Given the description of an element on the screen output the (x, y) to click on. 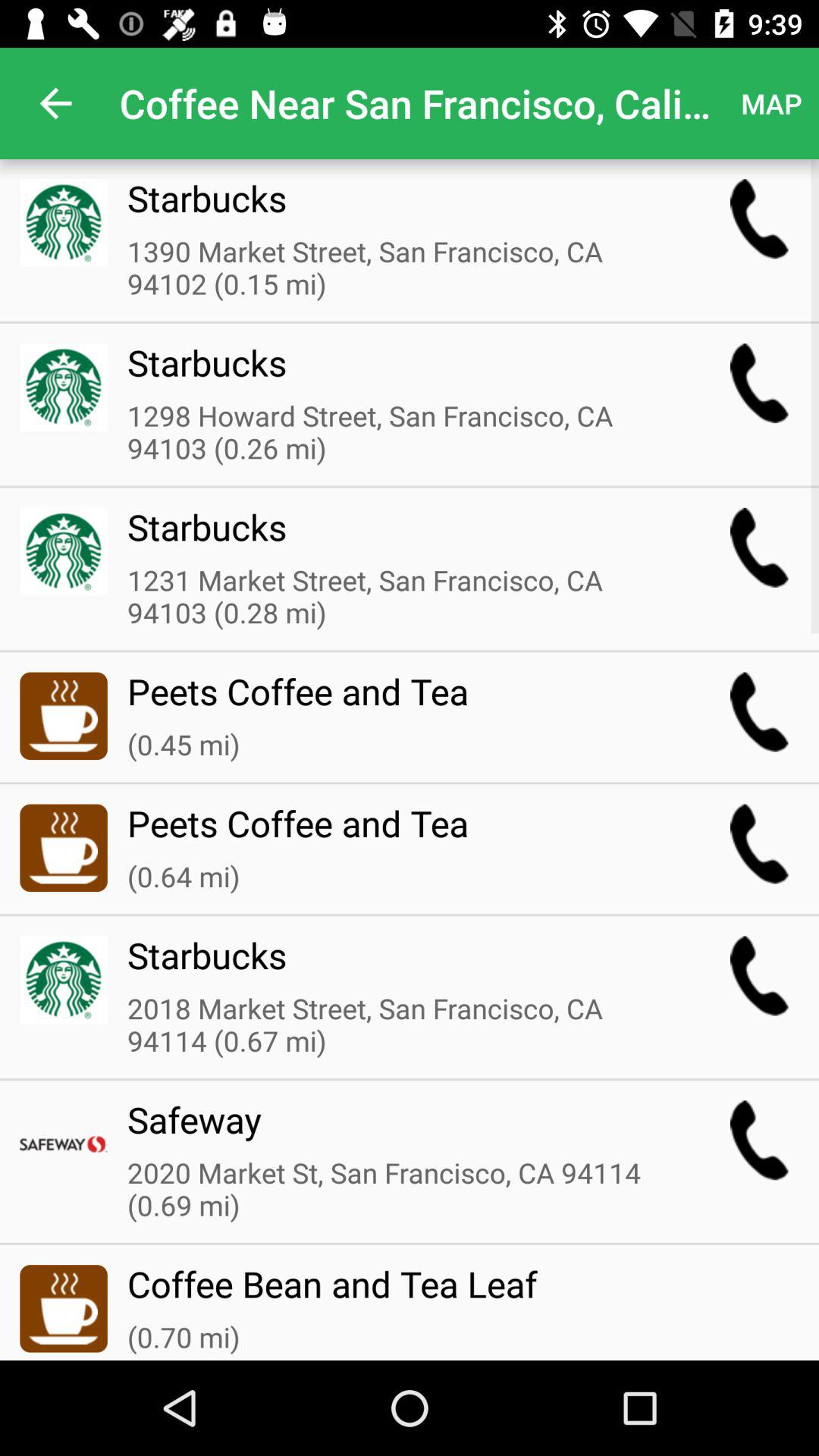
turn on the item above the coffee bean and (398, 1189)
